Given the description of an element on the screen output the (x, y) to click on. 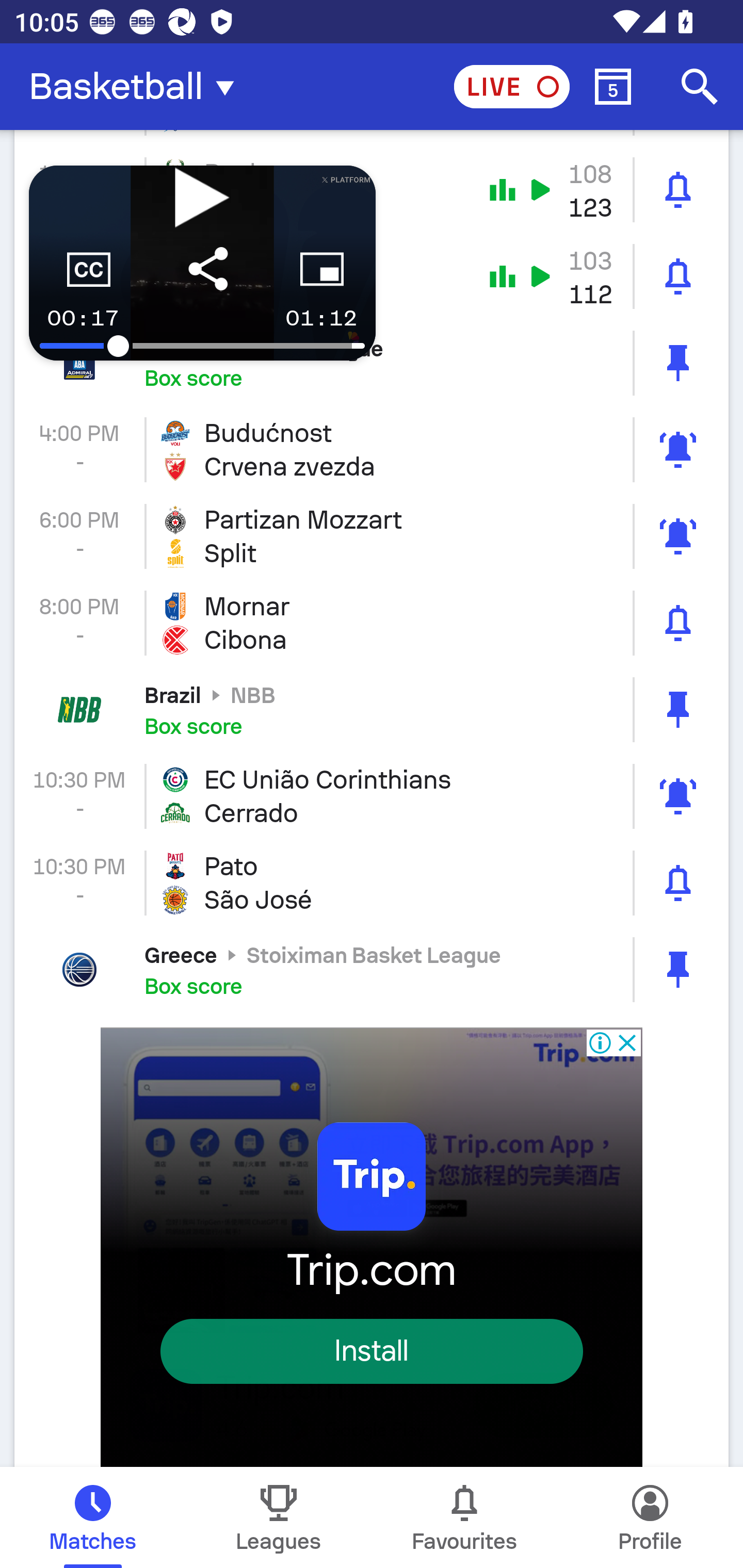
Basketball (137, 86)
Calendar (612, 86)
Search (699, 86)
4:00 PM - Budućnost Crvena zvezda (371, 449)
6:00 PM - Partizan Mozzart Split (371, 536)
8:00 PM - Mornar Cibona (371, 623)
Brazil NBB Box score (371, 709)
10:30 PM - EC União Corinthians Cerrado (371, 796)
10:30 PM - Pato São José (371, 883)
Greece Stoiximan Basket League Box score (371, 969)
Install (371, 1350)
Leagues (278, 1517)
Favourites (464, 1517)
Profile (650, 1517)
